Given the description of an element on the screen output the (x, y) to click on. 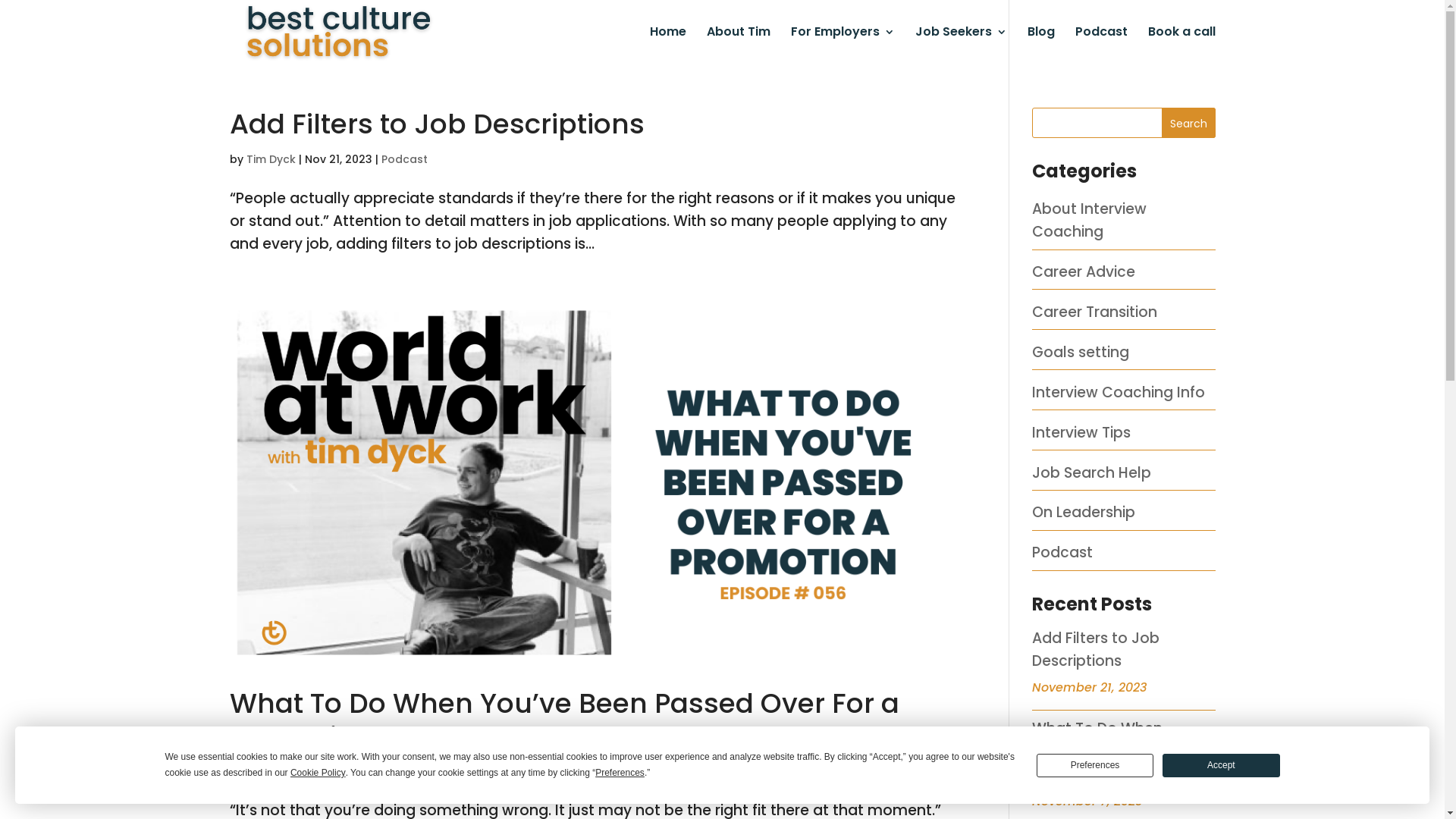
Search Element type: text (1188, 122)
Interview Coaching Info Element type: text (1118, 392)
Add Filters to Job Descriptions Element type: text (436, 123)
Interview Tips Element type: text (1081, 432)
Blog Element type: text (1040, 44)
For Employers Element type: text (842, 44)
Career Advice Element type: text (1083, 271)
Job Seekers Element type: text (960, 44)
Tim Dyck Element type: text (269, 771)
Podcast Element type: text (400, 771)
On Leadership Element type: text (1083, 512)
Tim Dyck Element type: text (269, 158)
Add Filters to Job Descriptions Element type: text (1095, 649)
Job Search Help Element type: text (1091, 472)
Goals setting Element type: text (1080, 352)
Career Transition Element type: text (1094, 311)
Home Element type: text (667, 44)
Podcast Element type: text (1101, 44)
About Tim Element type: text (738, 44)
Podcast Element type: text (403, 158)
Preferences Element type: text (1094, 765)
Podcast Element type: text (1062, 552)
Accept Element type: text (1220, 765)
Book a call Element type: text (1181, 44)
About Interview Coaching Element type: text (1089, 219)
